Given the description of an element on the screen output the (x, y) to click on. 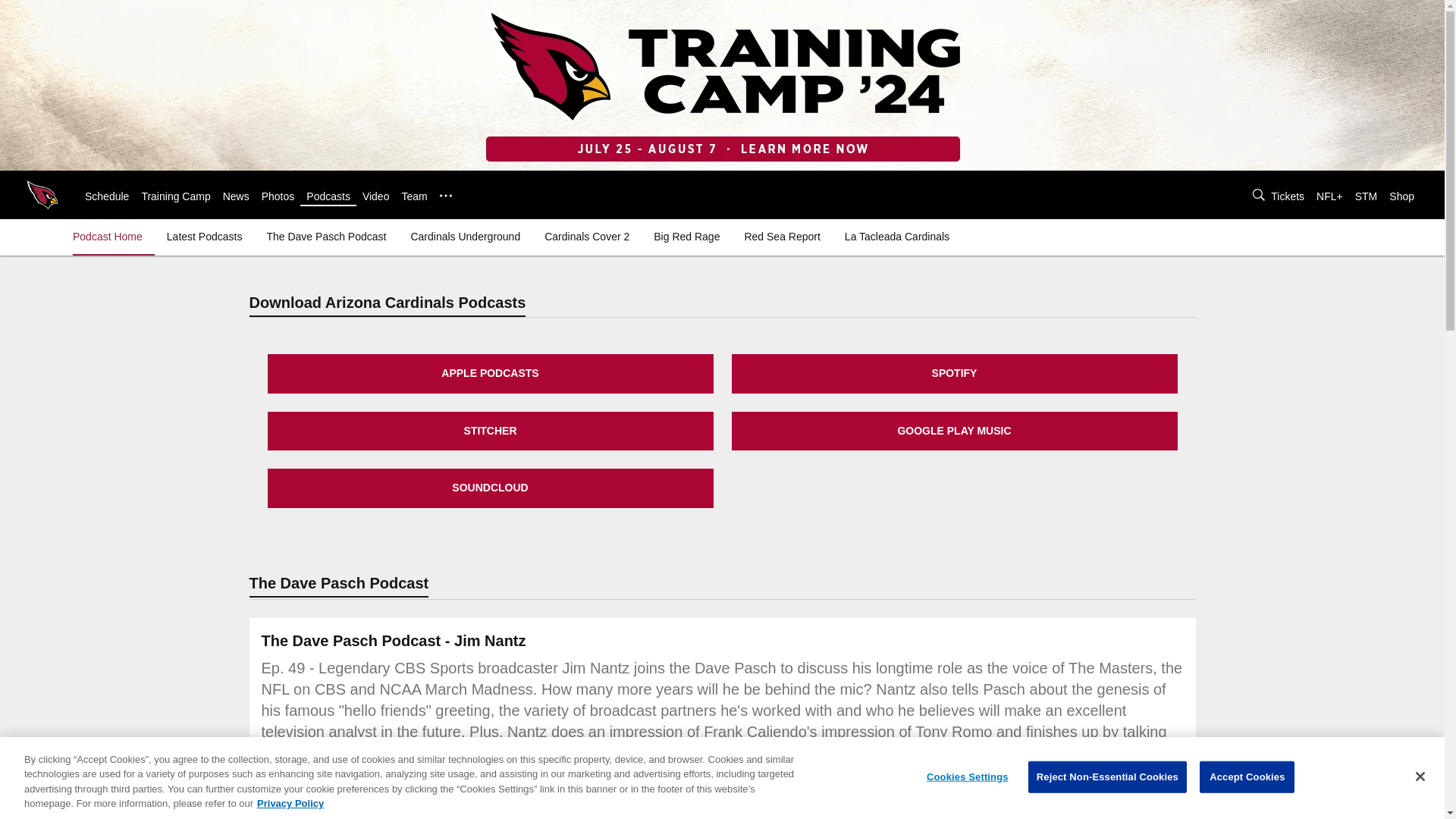
SPOTIFY (953, 373)
Photos (278, 196)
... (445, 195)
Team (413, 196)
Link to club's homepage (42, 194)
Podcasts (327, 196)
News (235, 196)
Schedule (106, 196)
Training Camp (175, 196)
The Dave Pasch Podcast (325, 236)
Photos (278, 196)
Team (413, 196)
STM (1366, 196)
Shop (1401, 196)
Cardinals Underground (464, 236)
